Given the description of an element on the screen output the (x, y) to click on. 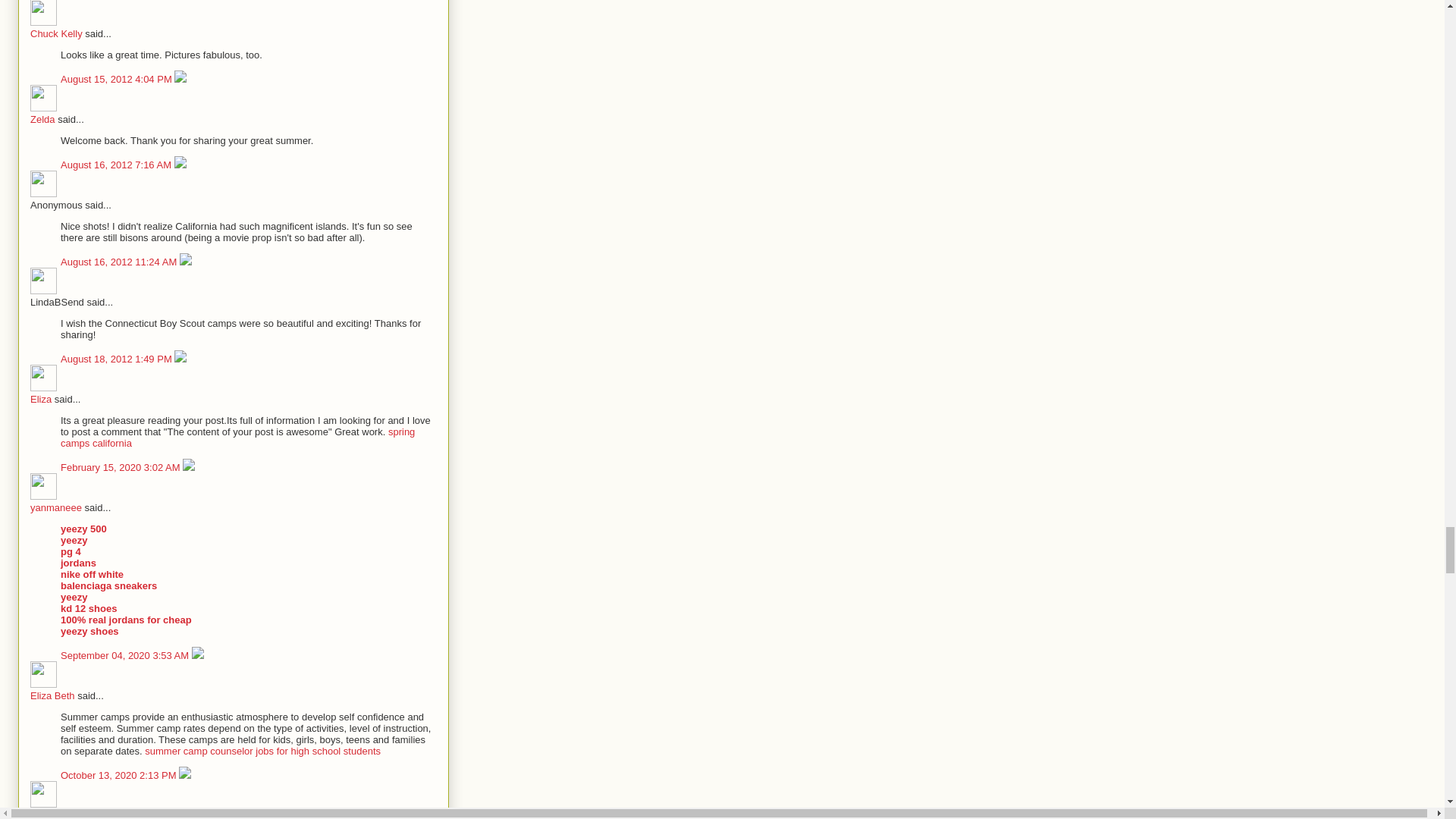
Chuck Kelly (43, 12)
comment permalink (117, 79)
